Given the description of an element on the screen output the (x, y) to click on. 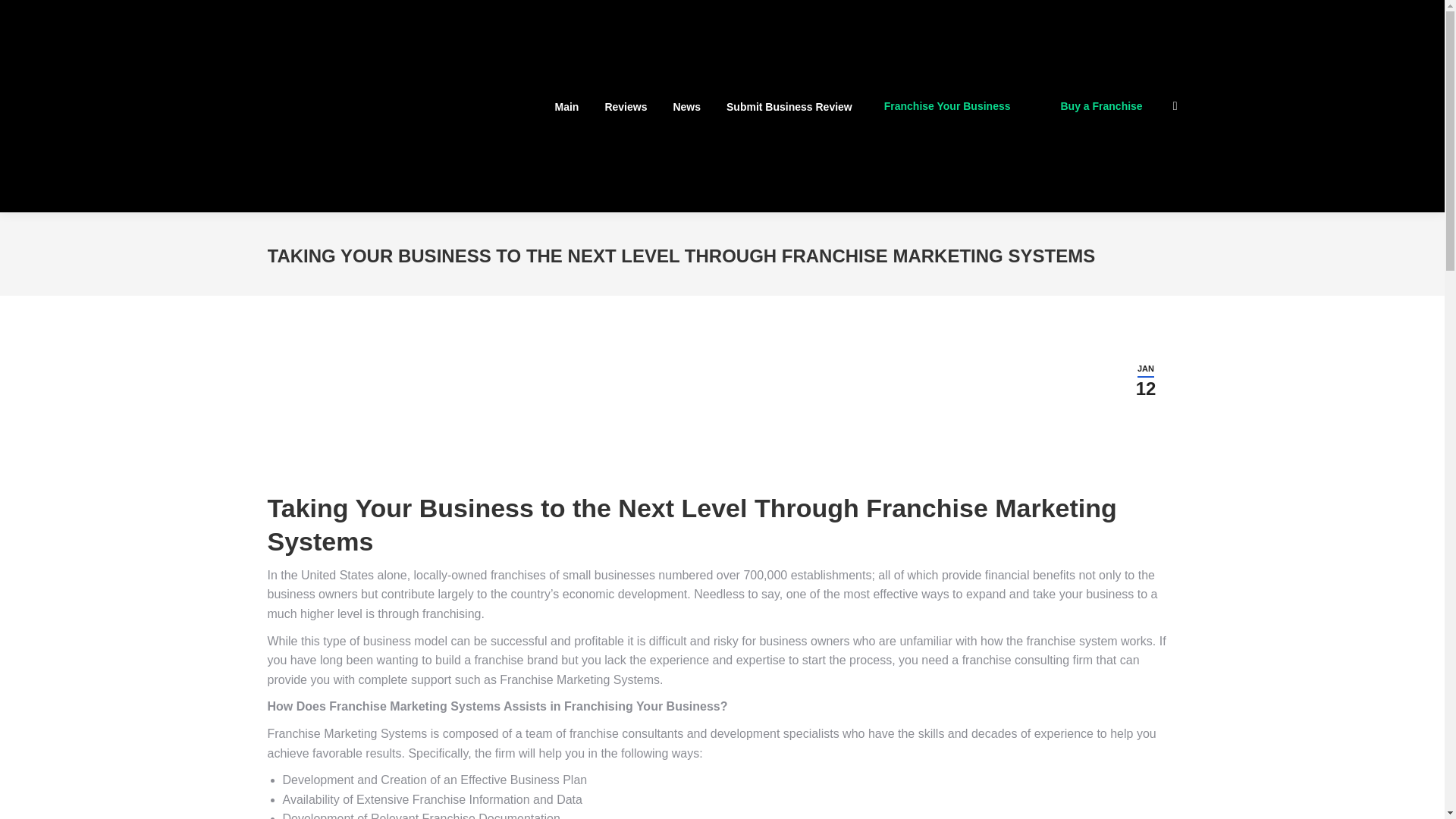
News (686, 106)
12:39 am (1146, 380)
Post Comment (50, 14)
Franchise Your Business (949, 105)
Main (567, 106)
Go! (22, 14)
Submit Business Review (789, 106)
Reviews (1146, 380)
Buy a Franchise (625, 106)
